Given the description of an element on the screen output the (x, y) to click on. 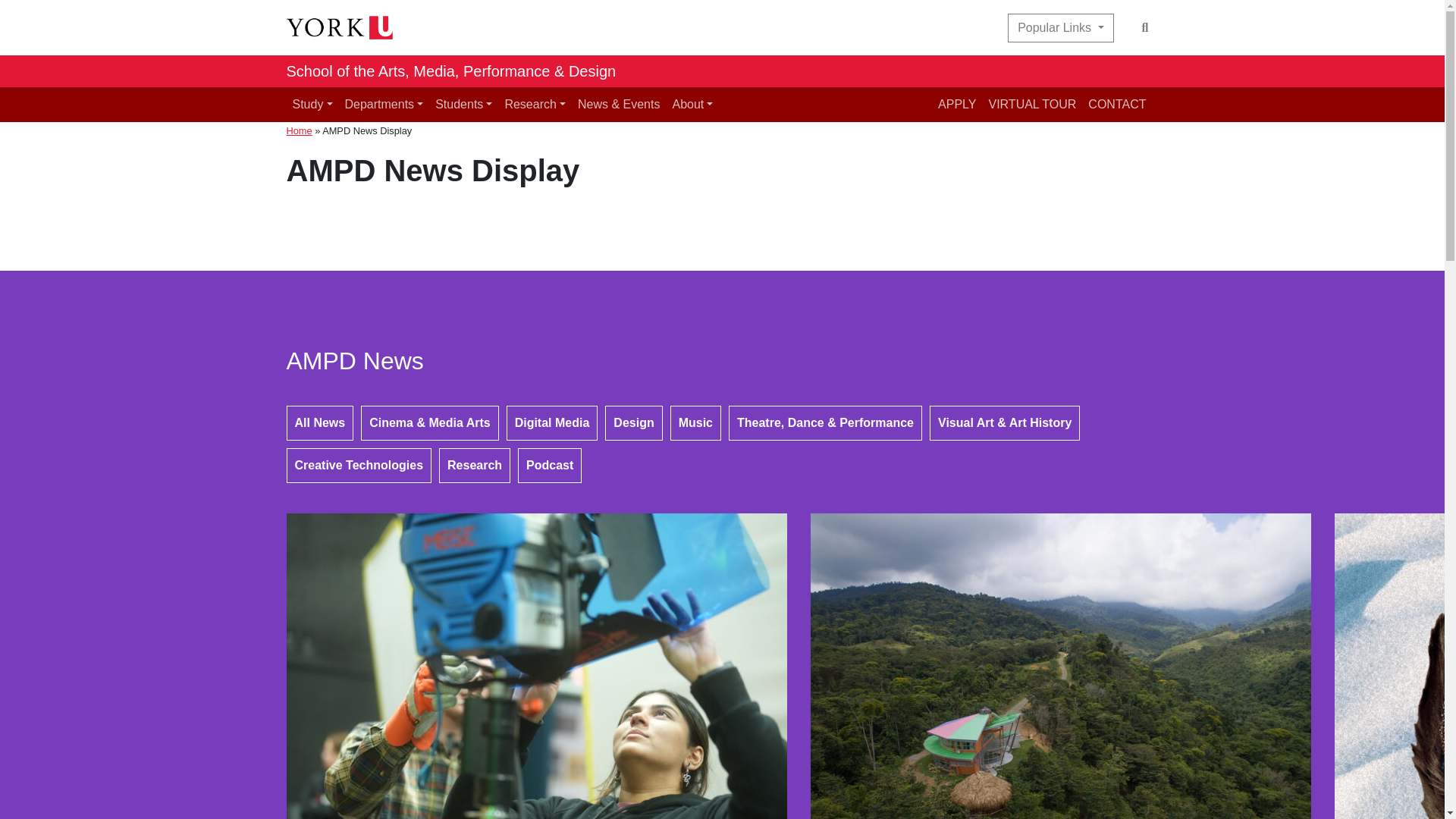
About (692, 104)
Students (463, 104)
Research (534, 104)
Popular Links (1060, 27)
Departments (383, 104)
Study (312, 104)
Search (1145, 27)
